Given the description of an element on the screen output the (x, y) to click on. 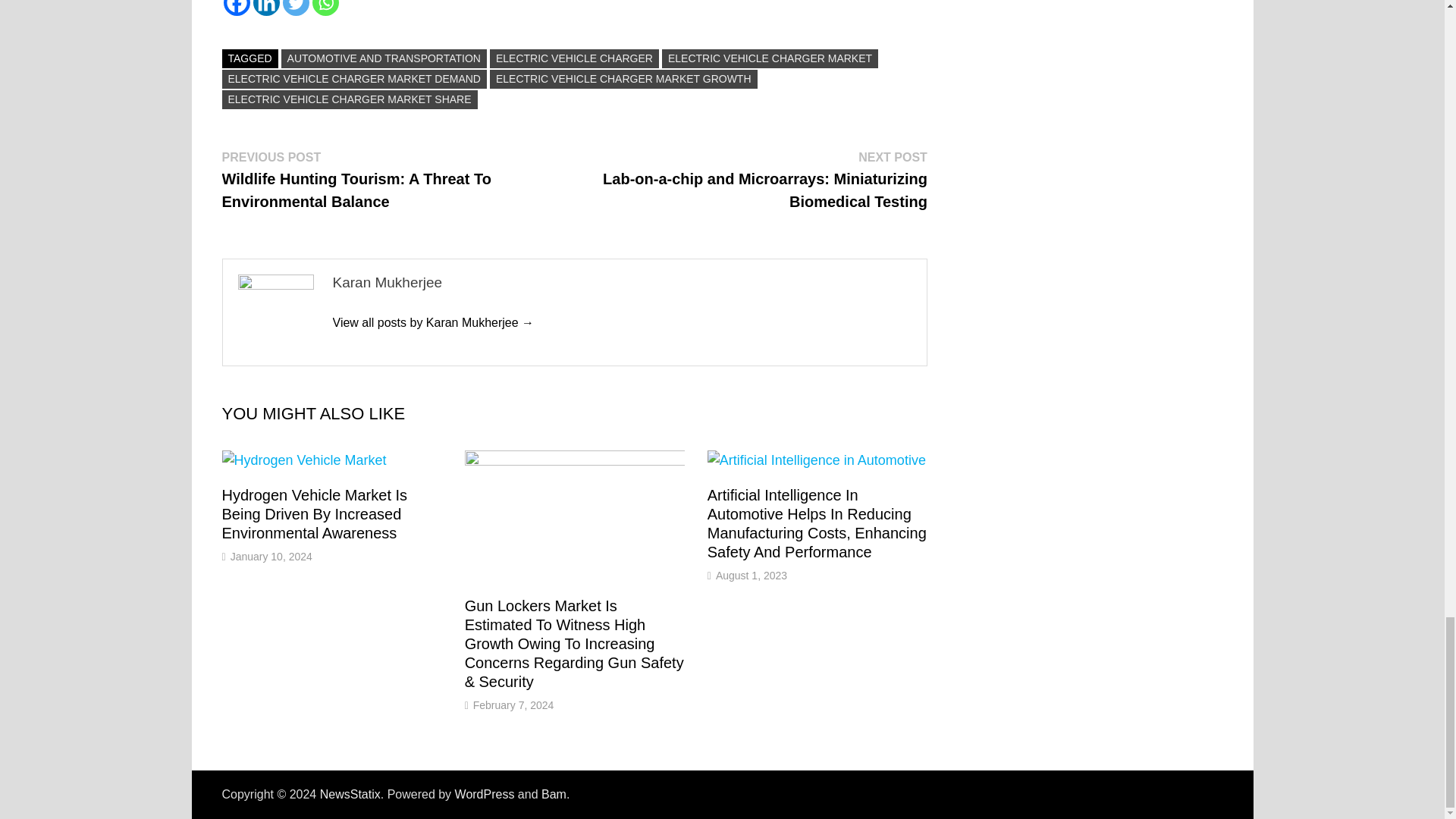
Twitter (295, 7)
Whatsapp (326, 7)
Linkedin (266, 7)
NewsStatix (350, 793)
Karan Mukherjee (432, 322)
Facebook (235, 7)
